Given the description of an element on the screen output the (x, y) to click on. 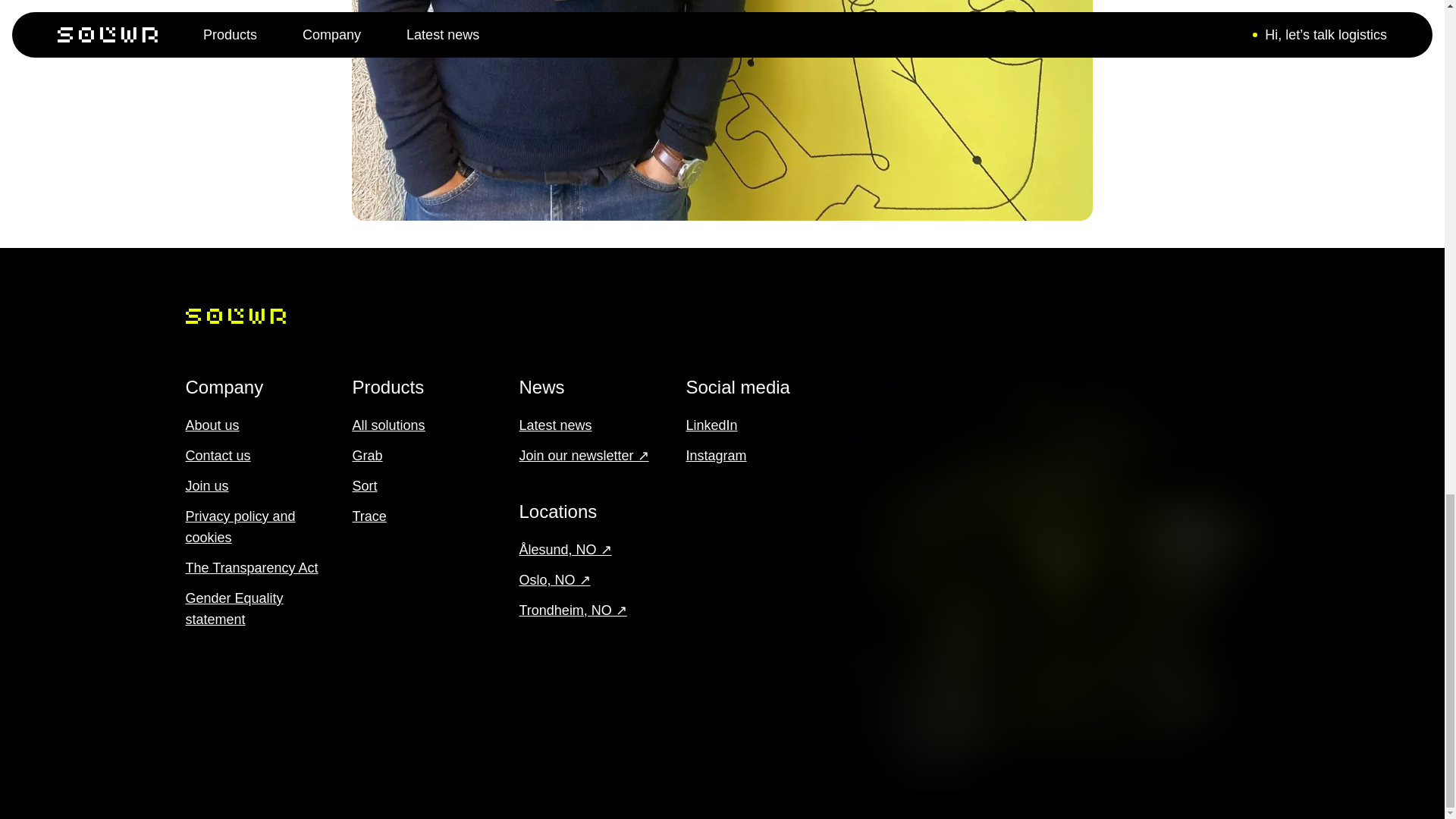
Sort (364, 485)
LinkedIn (710, 425)
Join us (206, 485)
Privacy policy and cookies (239, 526)
Latest news (554, 425)
About us (211, 425)
Gender Equality statement (233, 608)
The Transparency Act (250, 567)
All solutions (388, 425)
Contact us (217, 455)
